Given the description of an element on the screen output the (x, y) to click on. 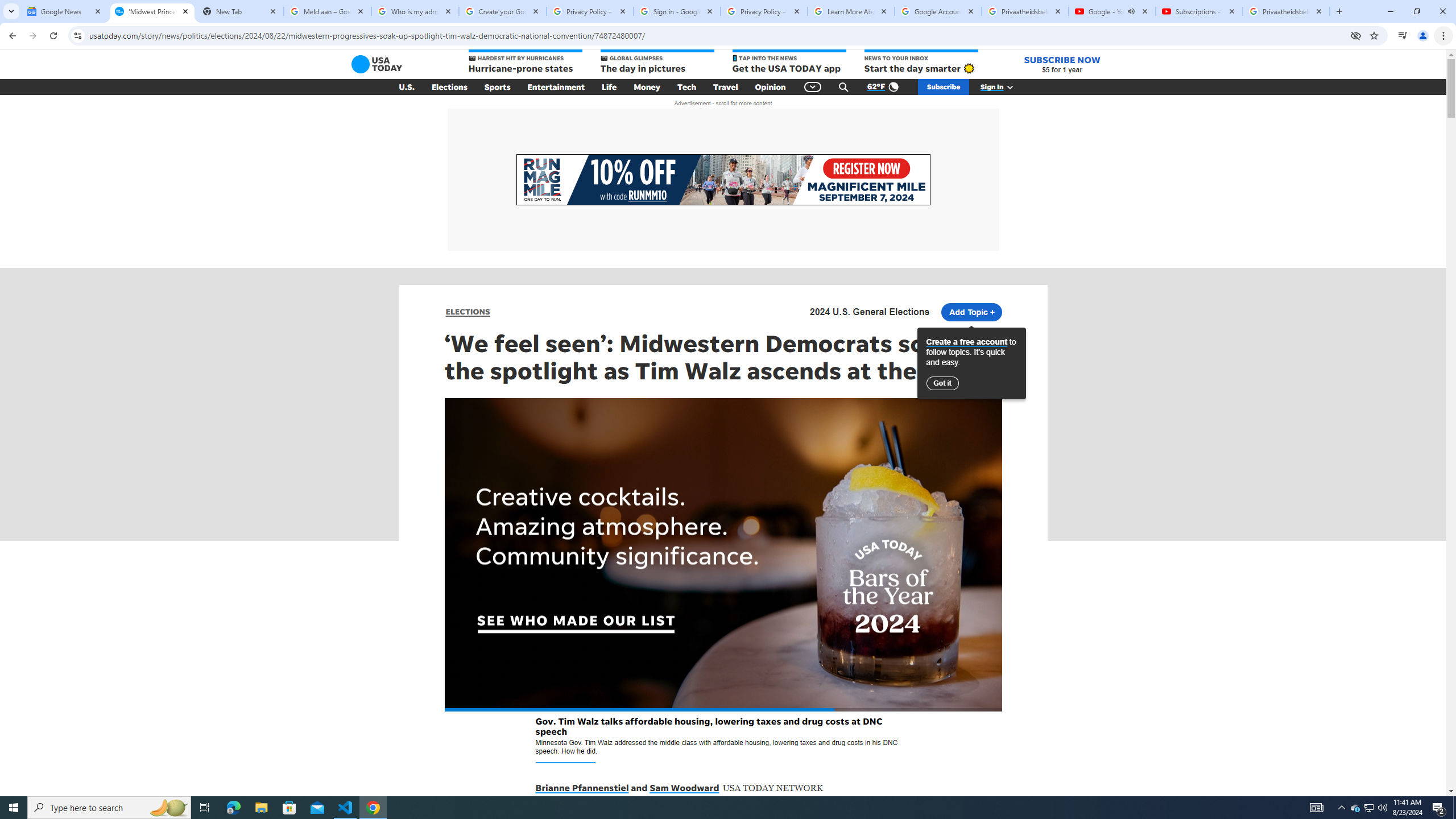
Sign In (1002, 87)
Tech (686, 87)
Sports (497, 87)
ELECTIONS (468, 311)
Got it (942, 382)
U.S. (406, 87)
You (1422, 35)
Search (843, 87)
Control your music, videos, and more (1402, 35)
New Tab (1338, 11)
Reload (52, 35)
Subscribe (943, 87)
